Given the description of an element on the screen output the (x, y) to click on. 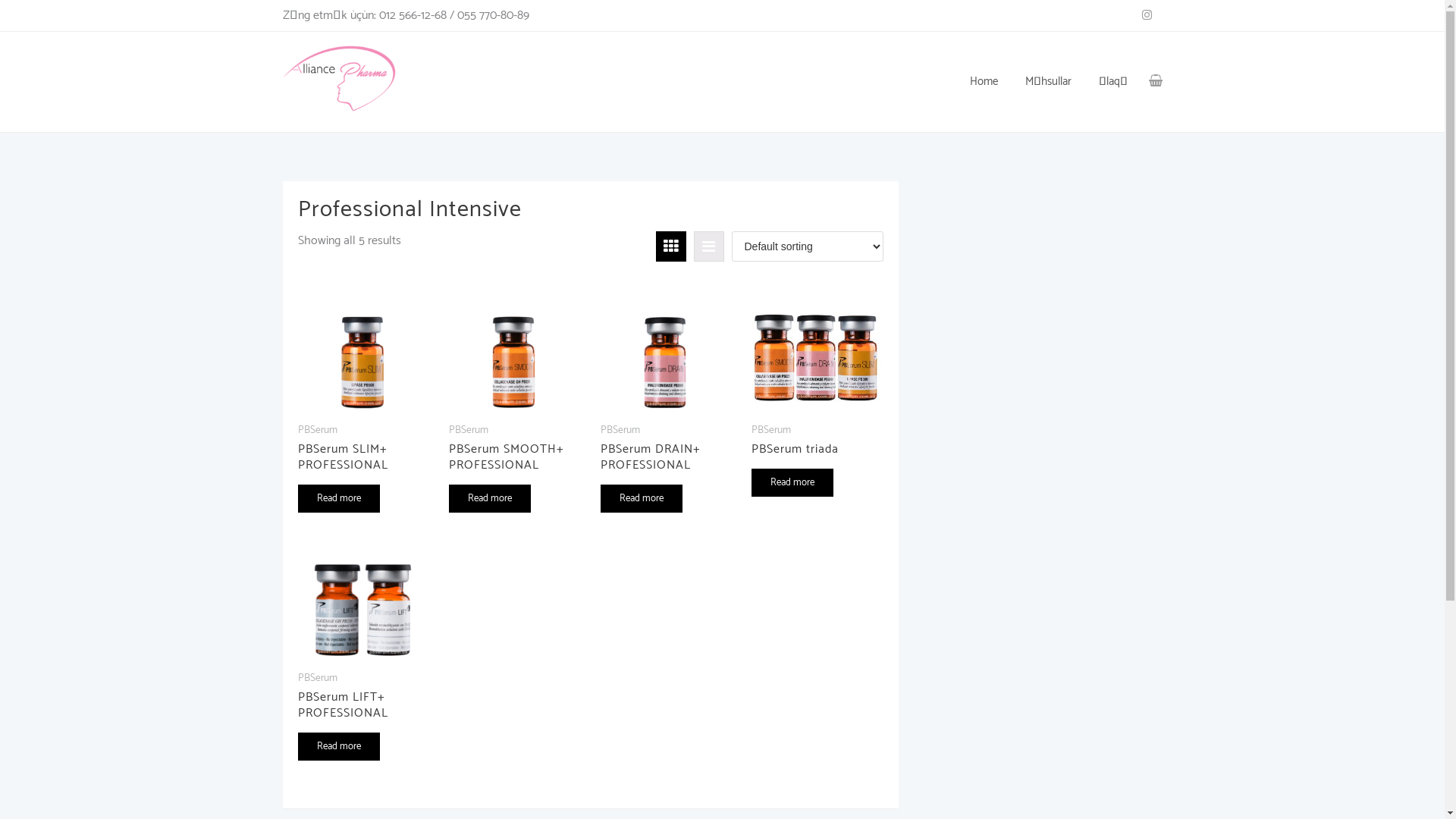
Grid View Element type: hover (670, 246)
PBSerum DRAIN+ PROFESSIONAL Element type: text (664, 475)
Read more Element type: text (641, 498)
Read more Element type: text (338, 746)
PBSerum SMOOTH+ PROFESSIONAL Element type: text (512, 475)
Home Element type: text (982, 81)
PBSerum LIFT+ PROFESSIONAL Element type: text (361, 723)
Read more Element type: text (338, 498)
Read more Element type: text (489, 498)
List View Element type: hover (708, 246)
PBSerum triada Element type: text (815, 467)
PBSerum SLIM+ PROFESSIONAL Element type: text (361, 475)
Read more Element type: text (792, 482)
